Given the description of an element on the screen output the (x, y) to click on. 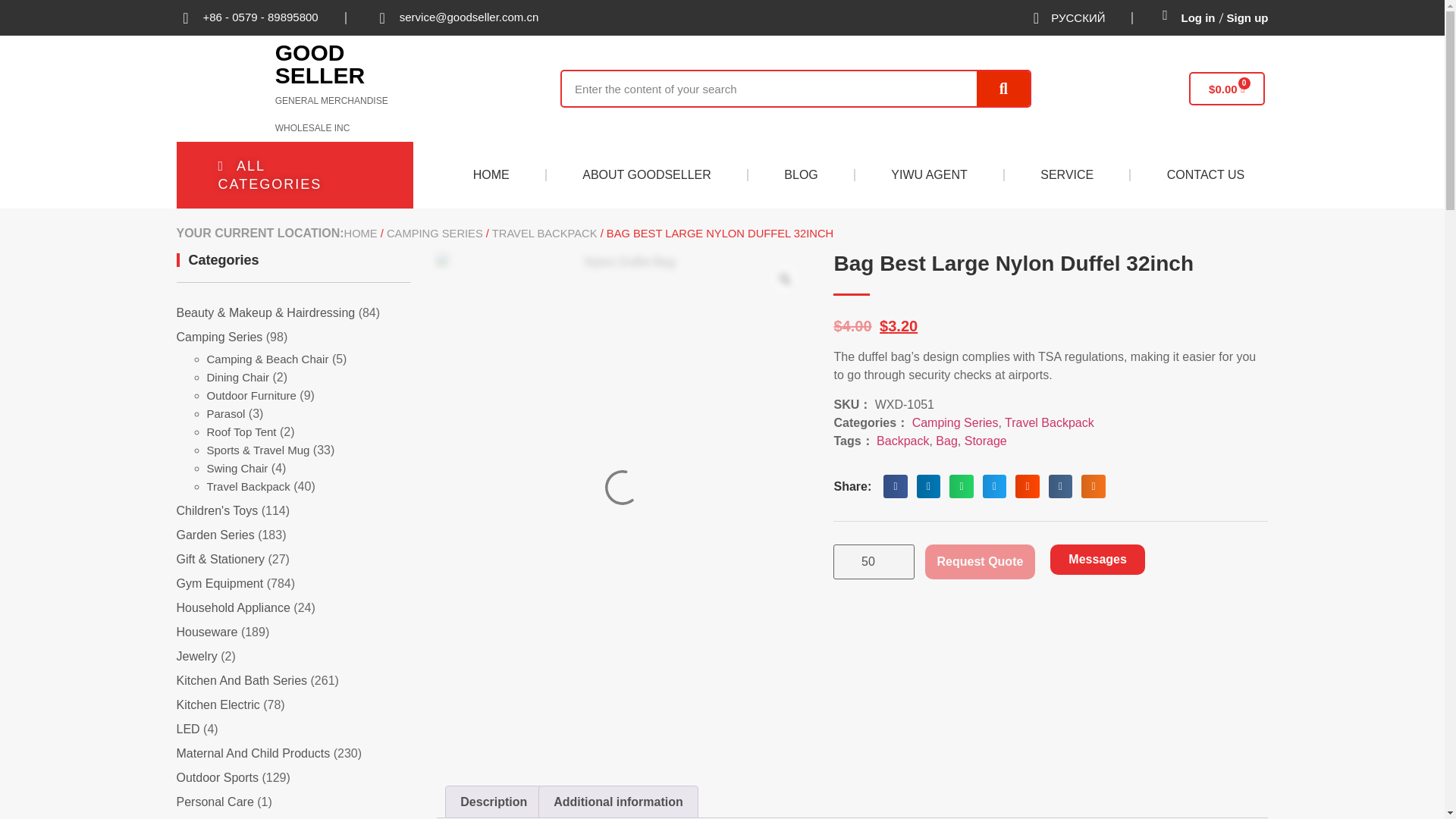
Easy-to-Clean Bag (672, 682)
Convenient Bag (574, 682)
Log in (1197, 17)
50 (873, 561)
Nylon Duffel Bag (477, 682)
GOOD SELLER (320, 63)
ALL CATEGORIES (294, 174)
Functional Quality Travel Bag (769, 682)
